Given the description of an element on the screen output the (x, y) to click on. 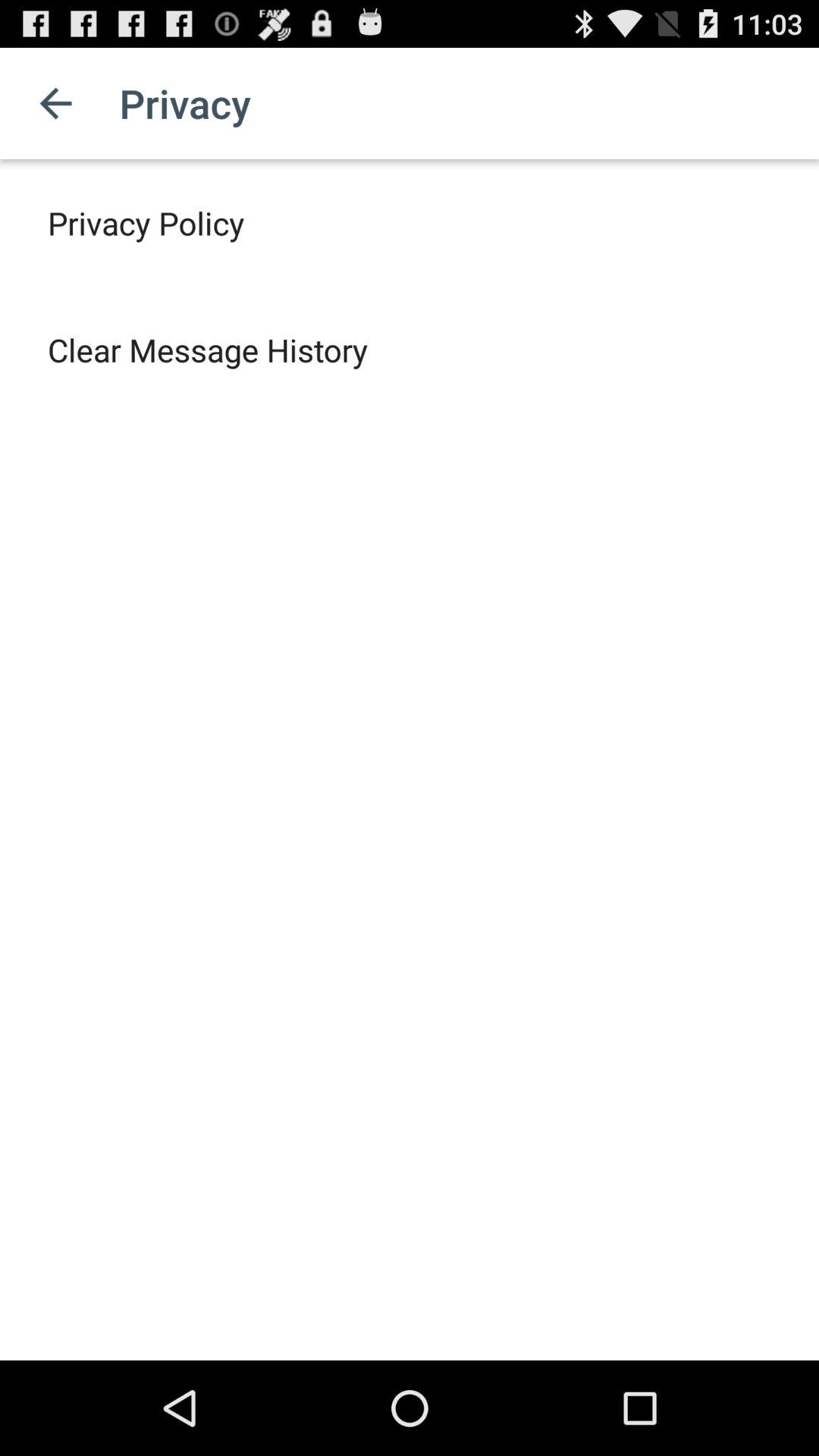
press privacy policy item (145, 222)
